Given the description of an element on the screen output the (x, y) to click on. 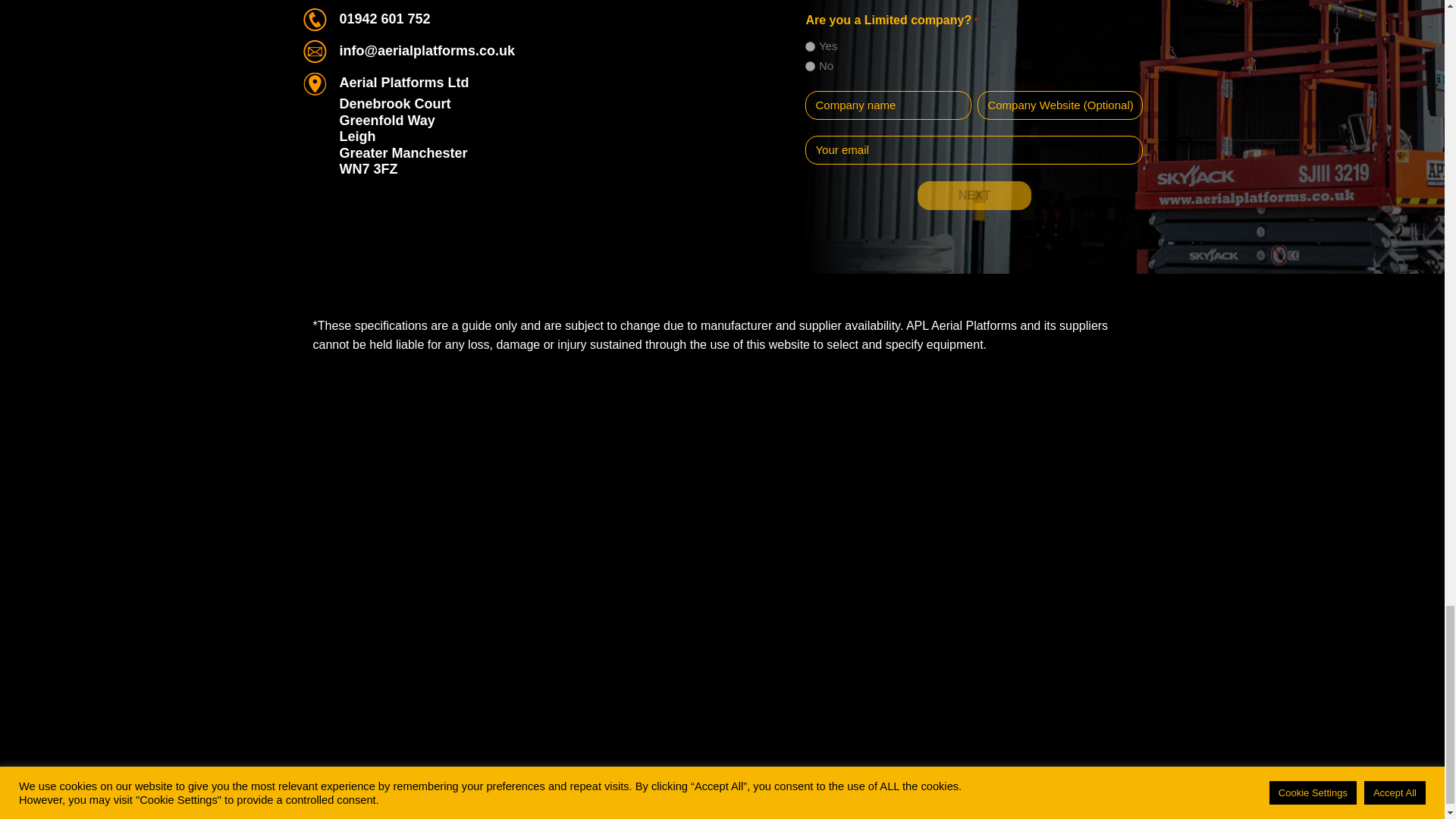
Next (973, 194)
Yes (810, 46)
No (810, 66)
